Given the description of an element on the screen output the (x, y) to click on. 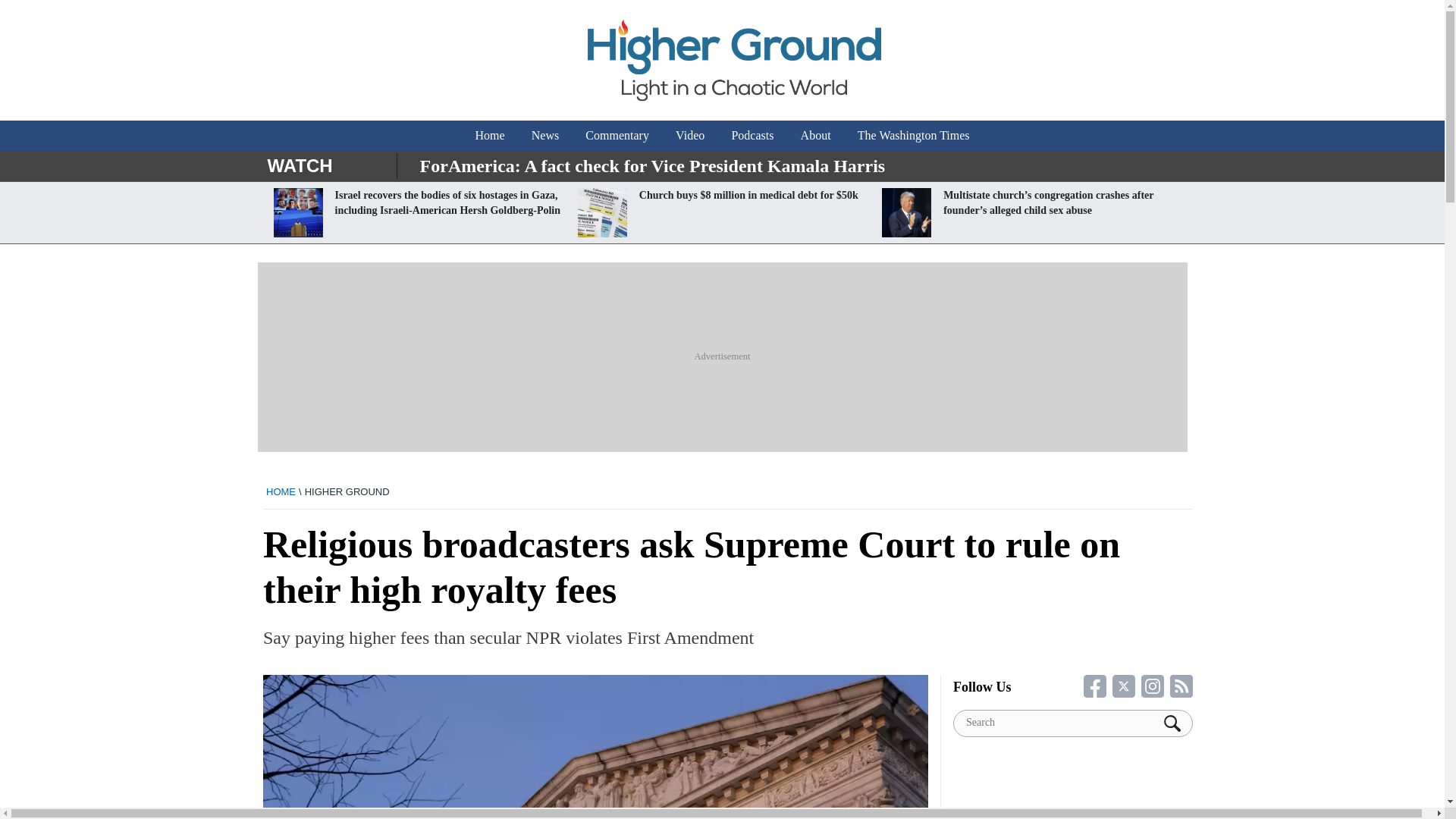
Commentary (617, 135)
HOME (280, 491)
Video (689, 135)
Commentary (617, 135)
The Washington Times (913, 135)
News (544, 135)
Home (489, 135)
The Washington Times (913, 135)
